Given the description of an element on the screen output the (x, y) to click on. 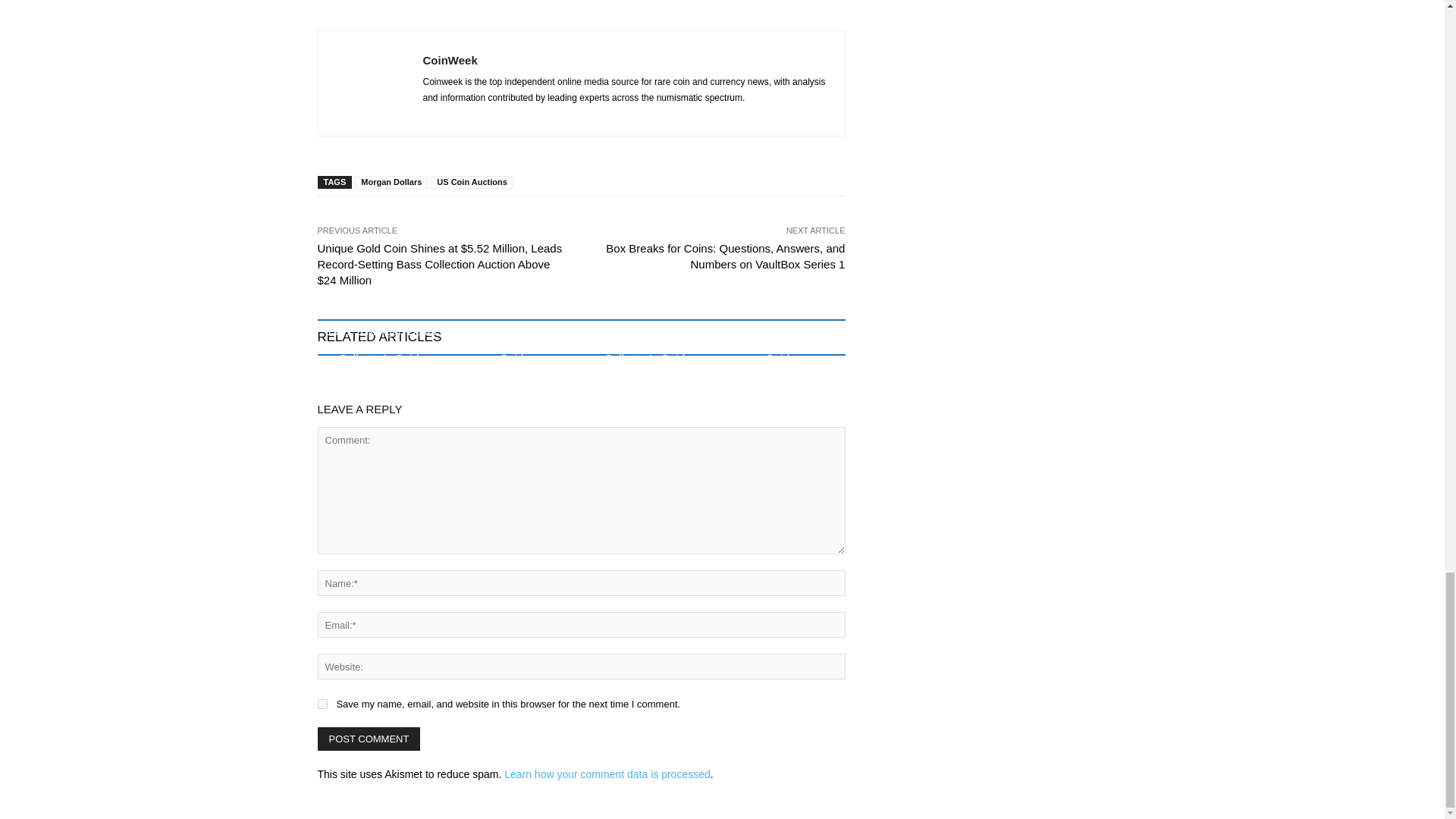
Post Comment (368, 739)
CoinWeek (369, 82)
yes (321, 704)
